Given the description of an element on the screen output the (x, y) to click on. 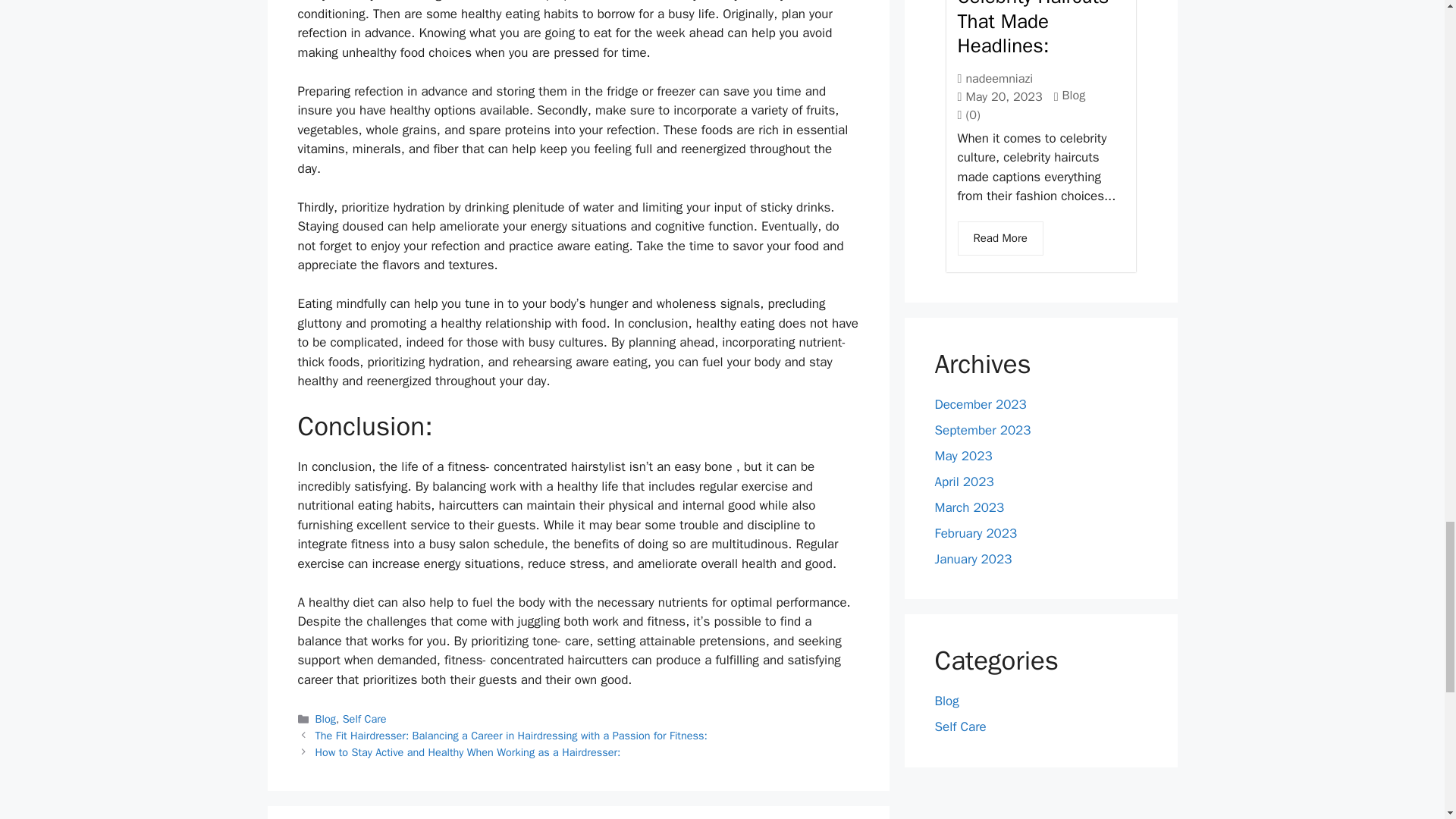
Self Care (364, 718)
Blog (325, 718)
